Given the description of an element on the screen output the (x, y) to click on. 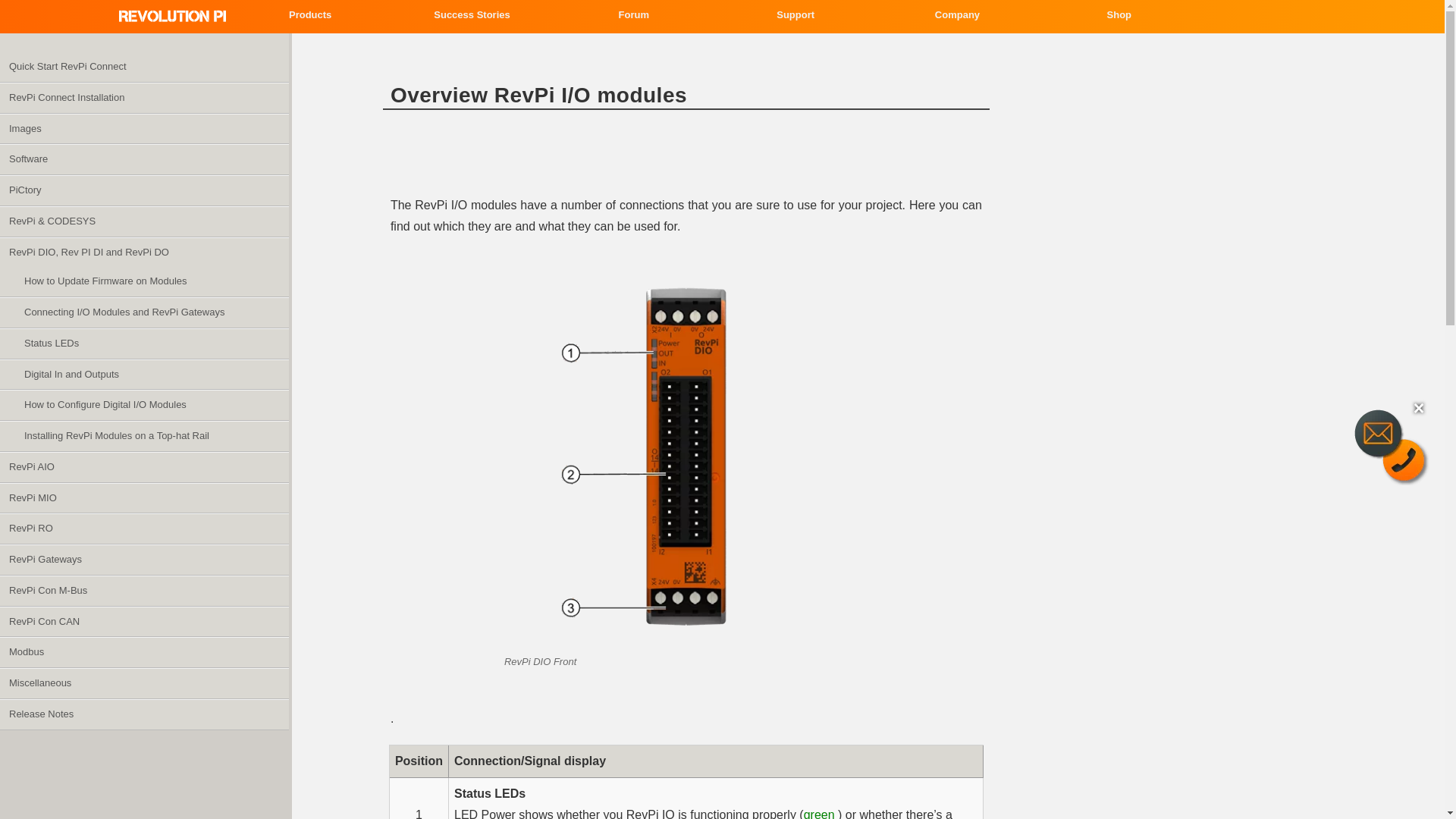
Success Stories (472, 15)
Products (309, 15)
Forum (633, 15)
Support (795, 15)
Company (957, 15)
Shop (1118, 15)
